Given the description of an element on the screen output the (x, y) to click on. 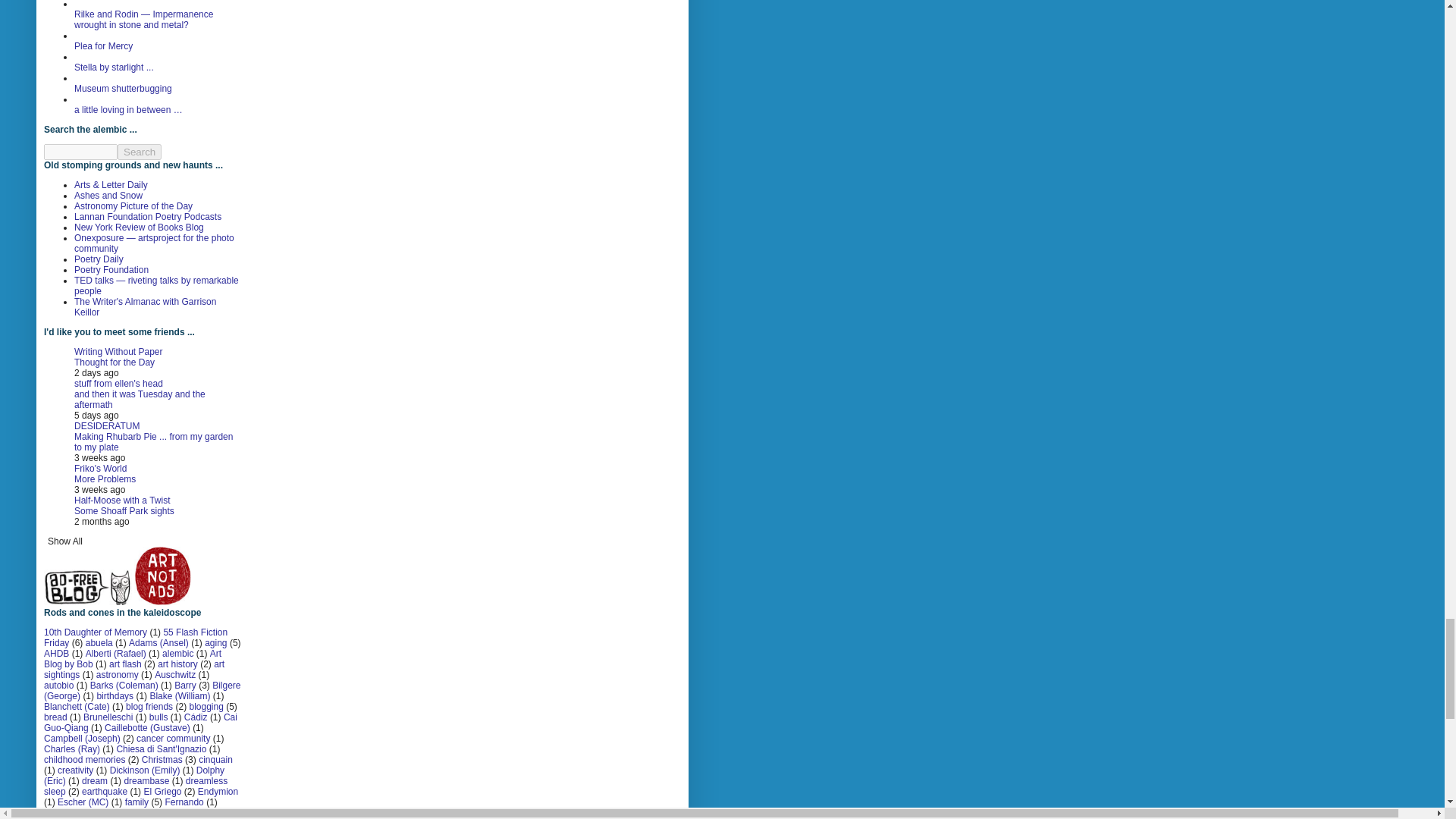
search (80, 151)
Search (139, 151)
search (139, 151)
Search (139, 151)
